Given the description of an element on the screen output the (x, y) to click on. 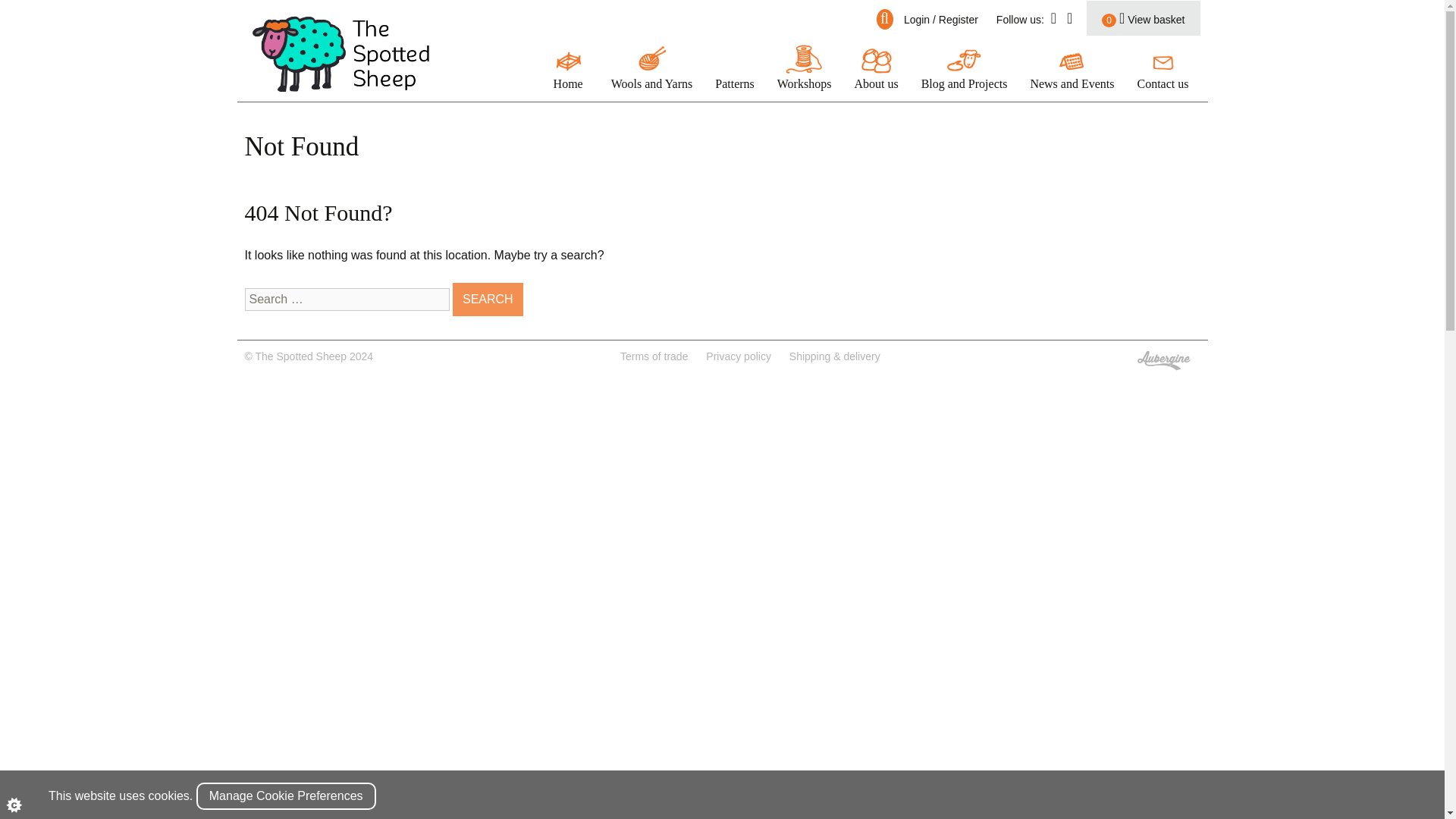
Search (487, 299)
Search (487, 299)
Wools and Yarns (651, 68)
Home (568, 68)
0 View basket (1142, 18)
Spotted Sheep (339, 53)
